Given the description of an element on the screen output the (x, y) to click on. 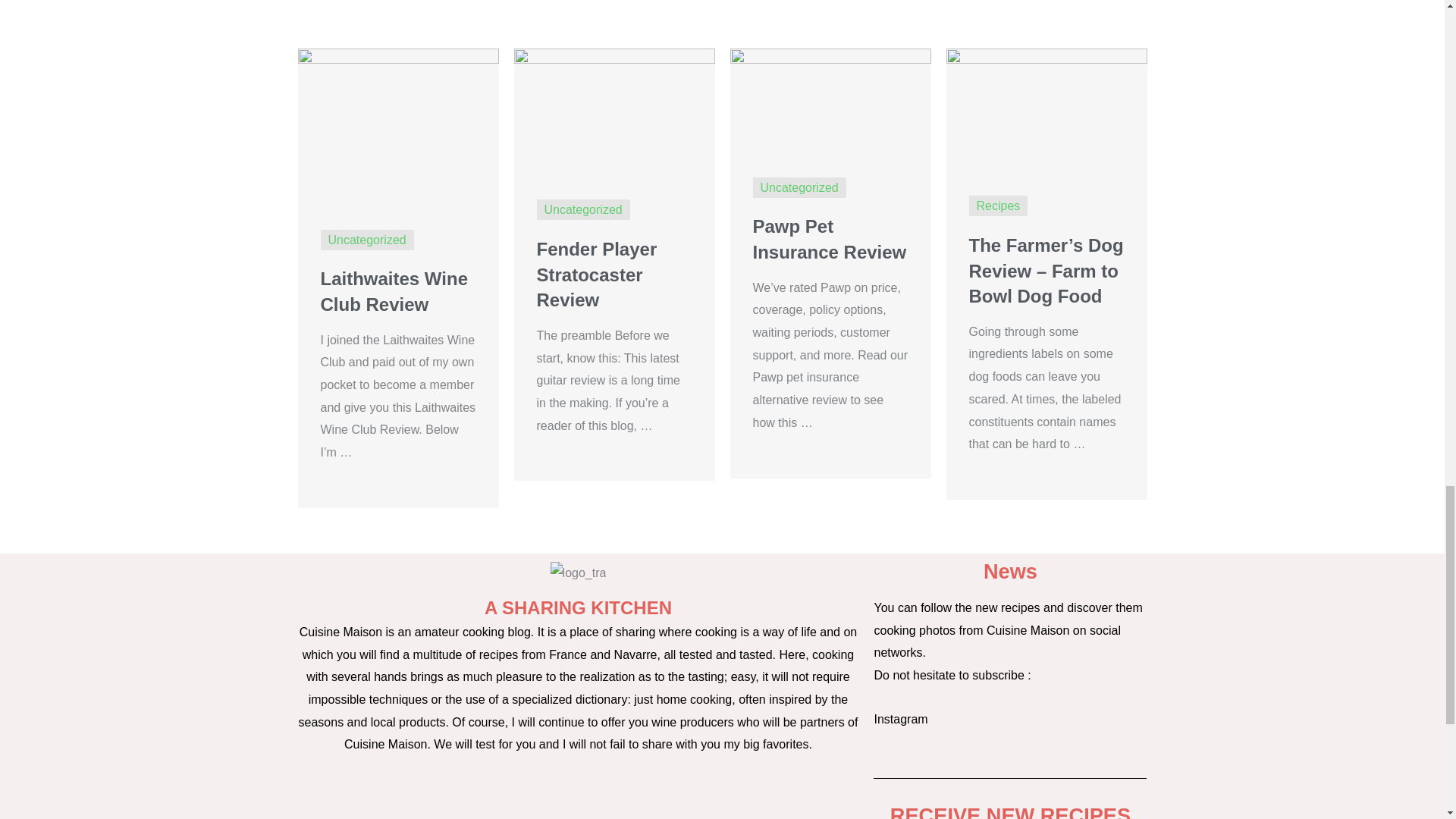
Fender Player Stratocaster Review (613, 111)
Pawp Pet Insurance Review (829, 100)
Laithwaites Wine Club Review (397, 125)
